Given the description of an element on the screen output the (x, y) to click on. 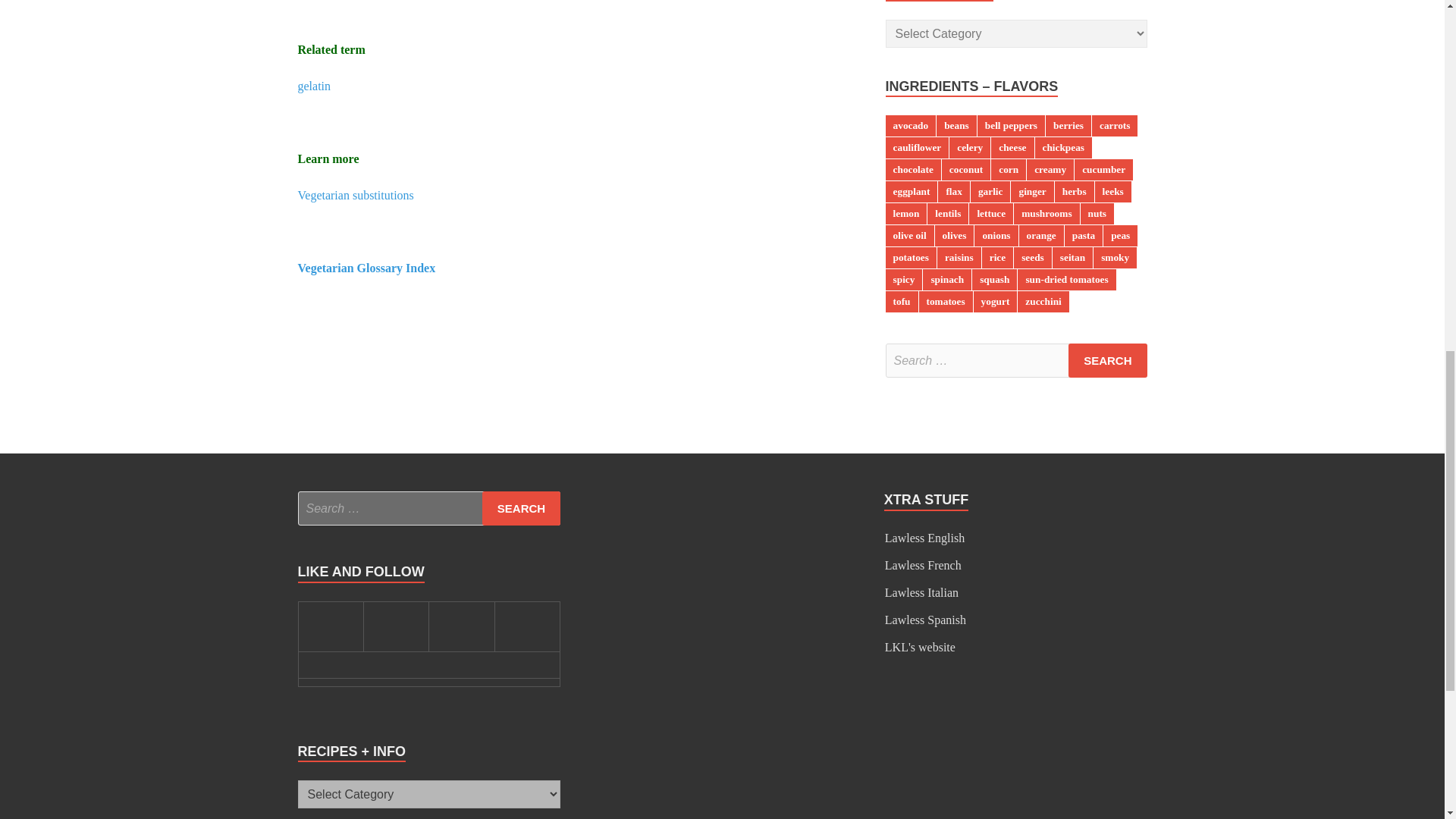
Learn French online (922, 564)
Search (520, 508)
Search (520, 508)
Search (1107, 360)
Learn English online (924, 537)
Search (1107, 360)
